Given the description of an element on the screen output the (x, y) to click on. 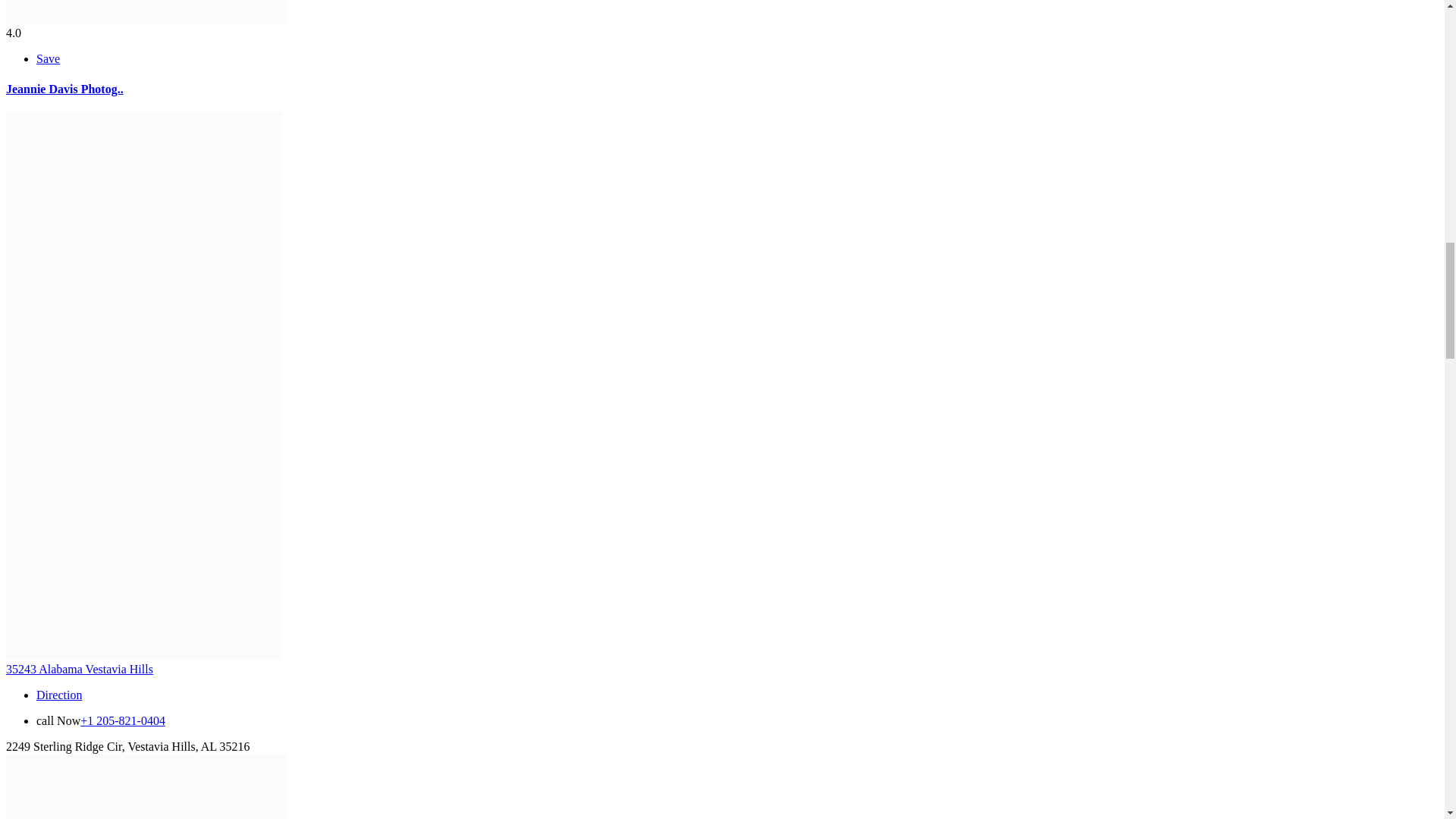
Vestavia Hills (118, 668)
35243 (22, 668)
Save (47, 58)
Alabama (61, 668)
Direction (58, 694)
Jeannie Davis Photog.. (64, 88)
